Given the description of an element on the screen output the (x, y) to click on. 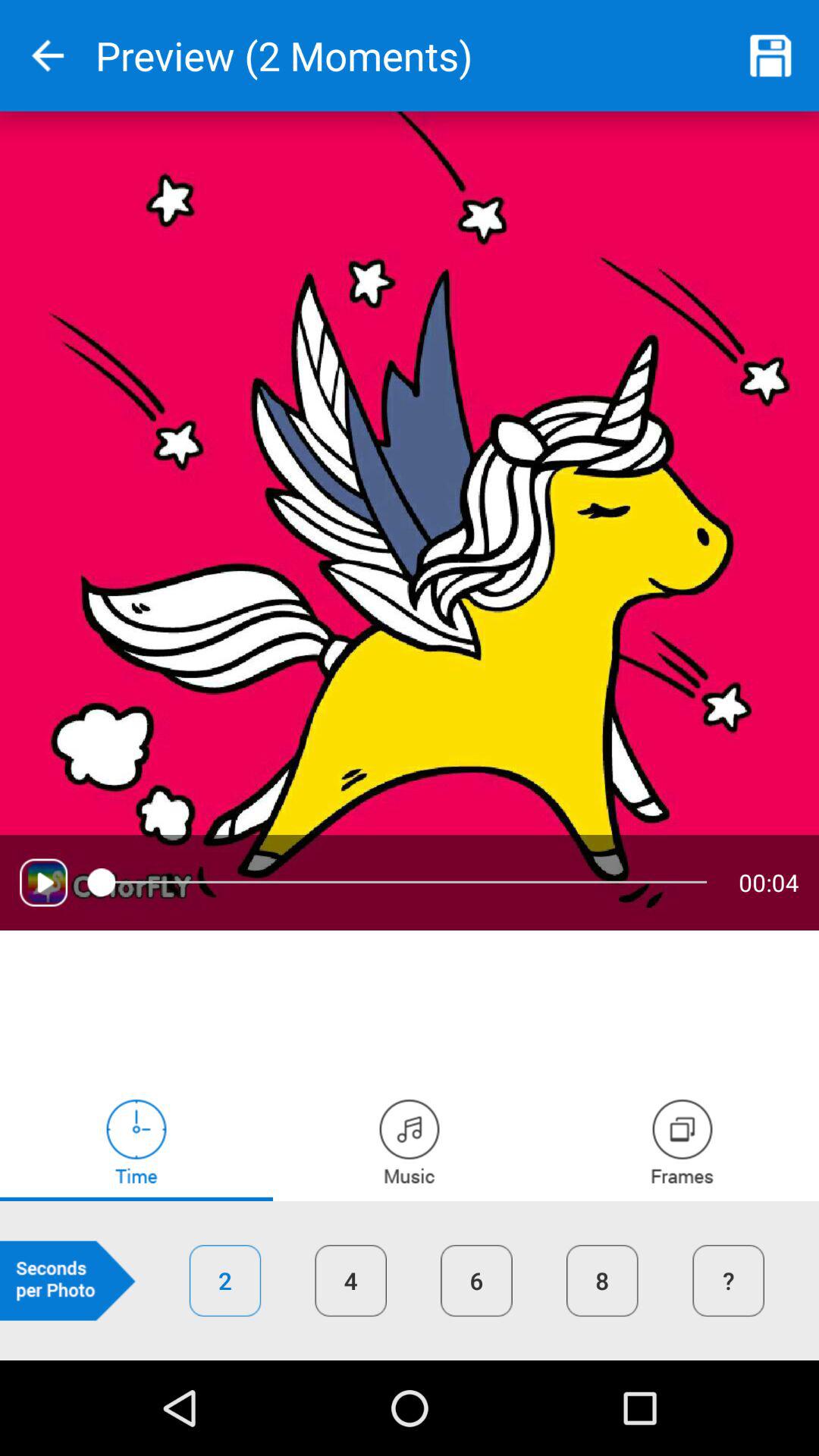
go back (47, 55)
